Given the description of an element on the screen output the (x, y) to click on. 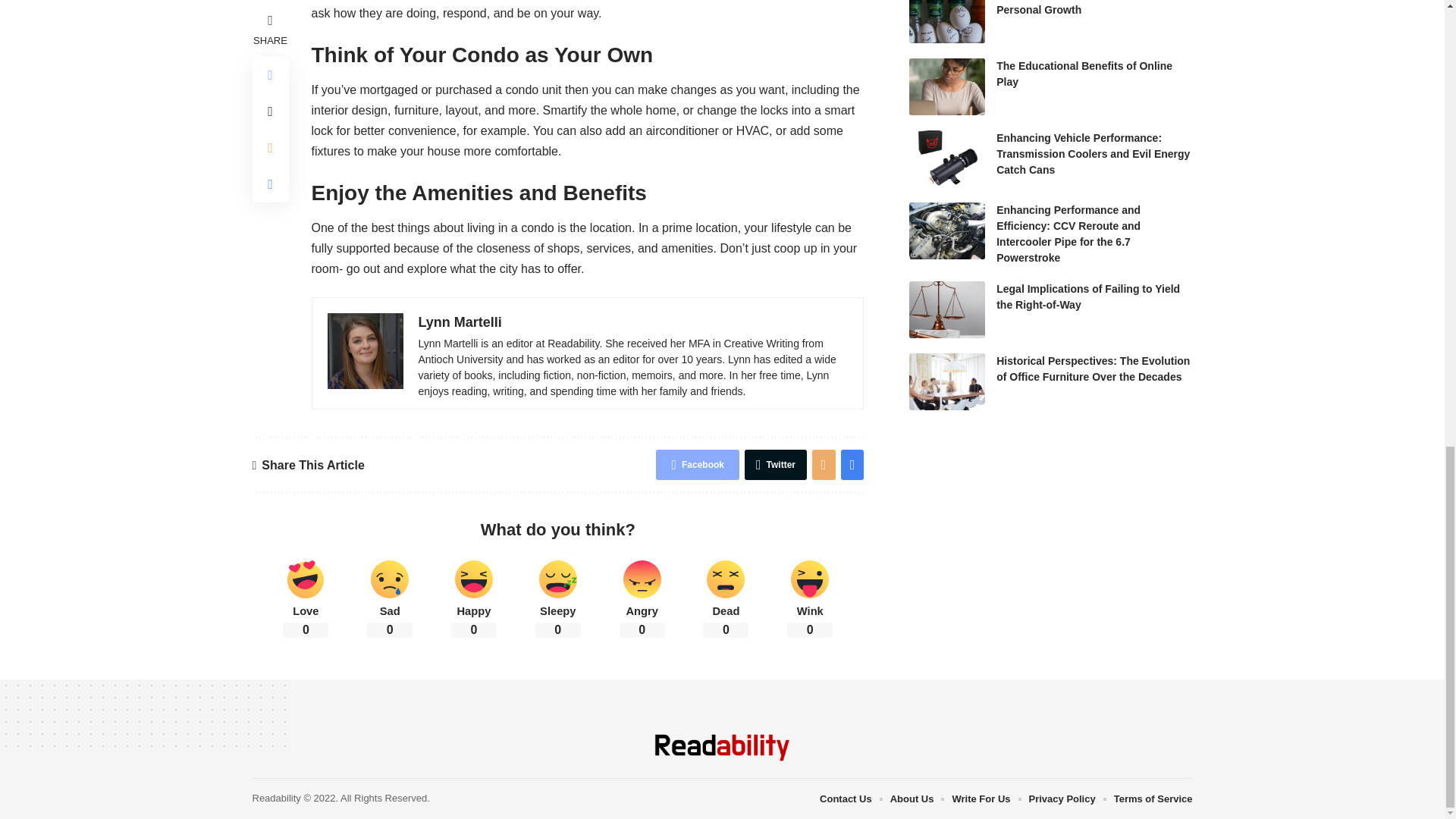
Legal Implications of Failing to Yield the Right-of-Way (946, 309)
Developing Emotional Intelligence for Personal Growth (946, 21)
The Educational Benefits of Online Play (946, 86)
Readability (722, 747)
